Given the description of an element on the screen output the (x, y) to click on. 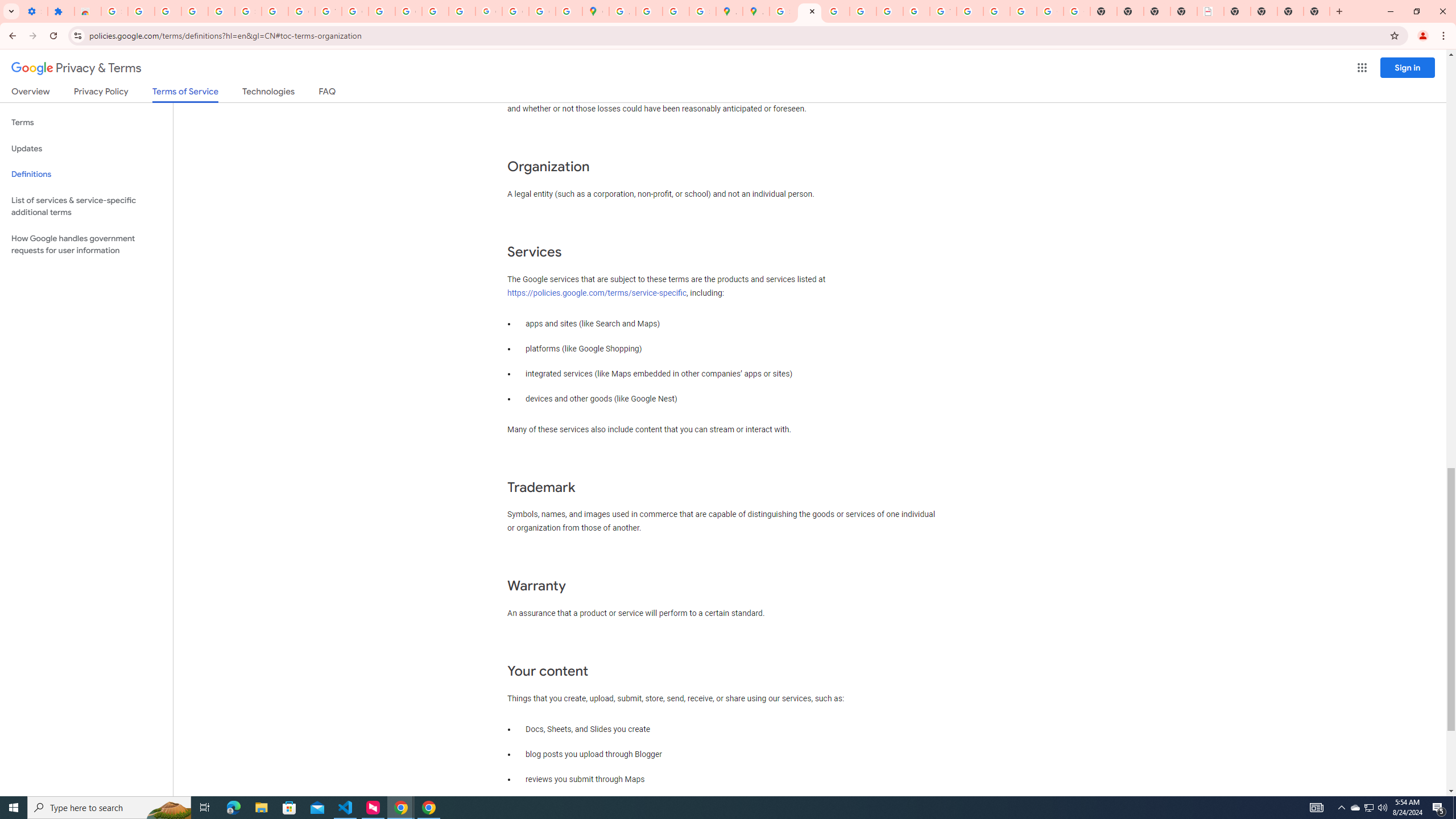
LAAD Defence & Security 2025 | BAE Systems (1210, 11)
New Tab (1236, 11)
Updates (86, 148)
YouTube (328, 11)
YouTube (943, 11)
Browse Chrome as a guest - Computer - Google Chrome Help (970, 11)
